Given the description of an element on the screen output the (x, y) to click on. 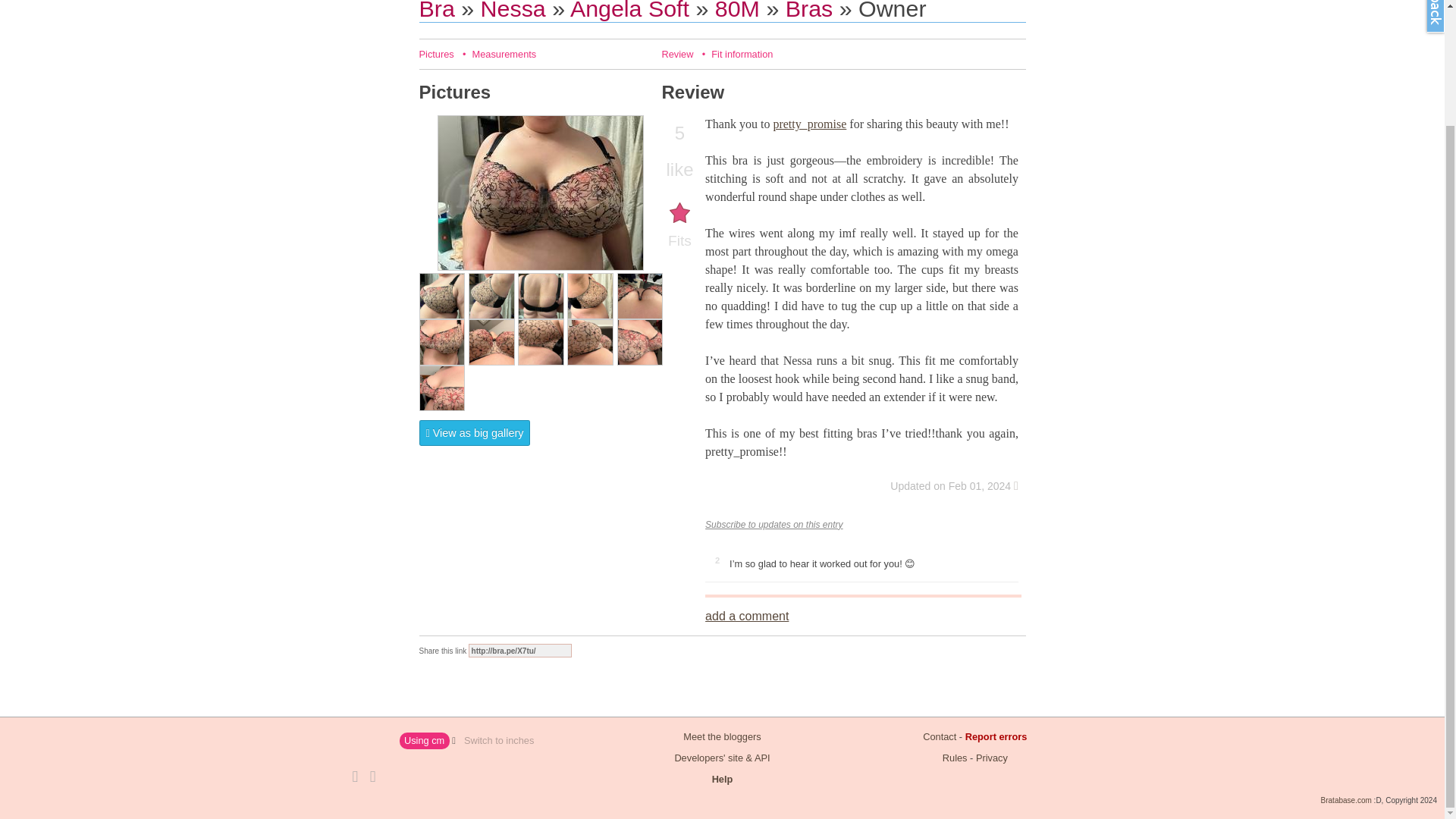
Nessa (513, 10)
Angela Soft (629, 10)
Start browsing (436, 10)
80M (737, 10)
Nessa (513, 10)
Bra (436, 10)
Bras (809, 10)
Switch to inches (498, 741)
Measurements (504, 53)
Public bras for 80M (809, 10)
Angela Soft (629, 10)
80M (737, 10)
Pictures (435, 53)
